Given the description of an element on the screen output the (x, y) to click on. 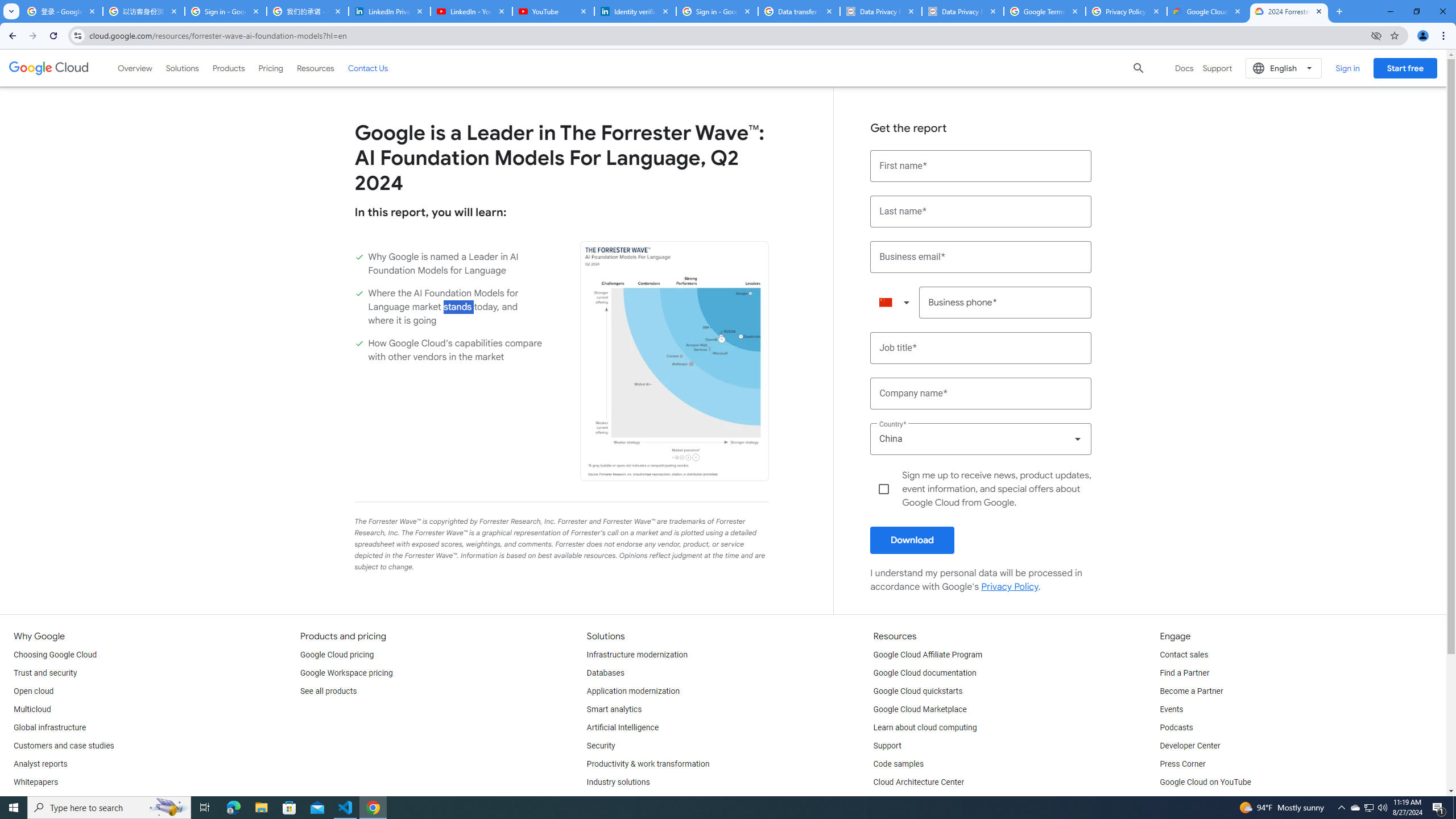
See all products (327, 691)
Smart analytics (614, 710)
Products (228, 67)
Google Cloud Privacy Notice (1207, 11)
Docs (1183, 67)
Resources (314, 67)
Company name* (981, 393)
Become a Partner (1190, 691)
Start free (1405, 67)
Infrastructure modernization (637, 655)
YouTube (552, 11)
